Given the description of an element on the screen output the (x, y) to click on. 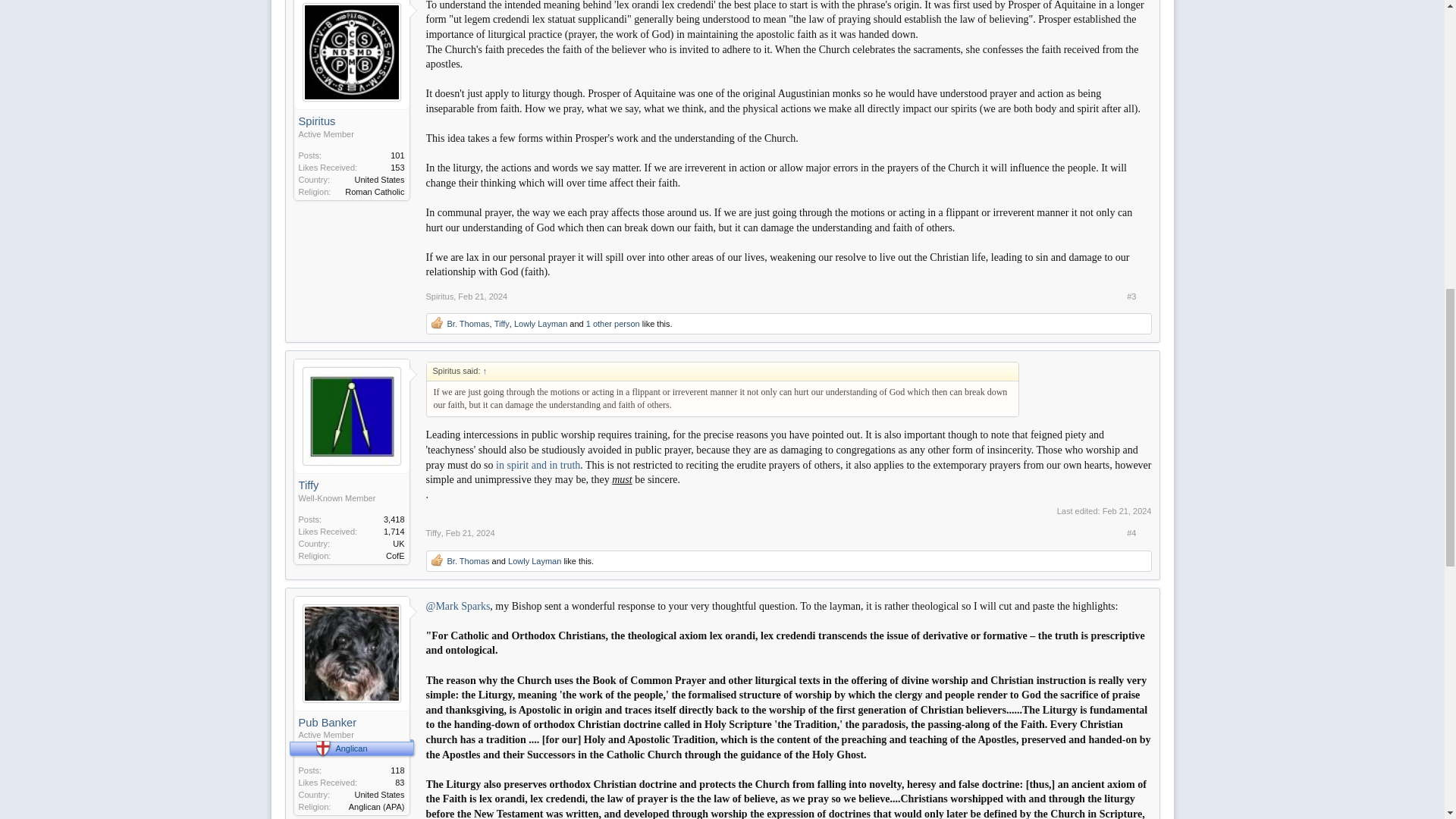
Tiffy (502, 323)
Spiritus (351, 121)
Spiritus (440, 296)
Permalink (482, 296)
101 (397, 154)
Permalink (470, 532)
Tiffy (351, 485)
3,418 (394, 519)
Feb 21, 2024 at 5:40 PM (1126, 510)
Lowly Layman (540, 323)
Feb 21, 2024 (482, 296)
Br. Thomas (467, 323)
Feb 21, 2024 (470, 532)
1 other person (613, 323)
in spirit and in truth (537, 464)
